Given the description of an element on the screen output the (x, y) to click on. 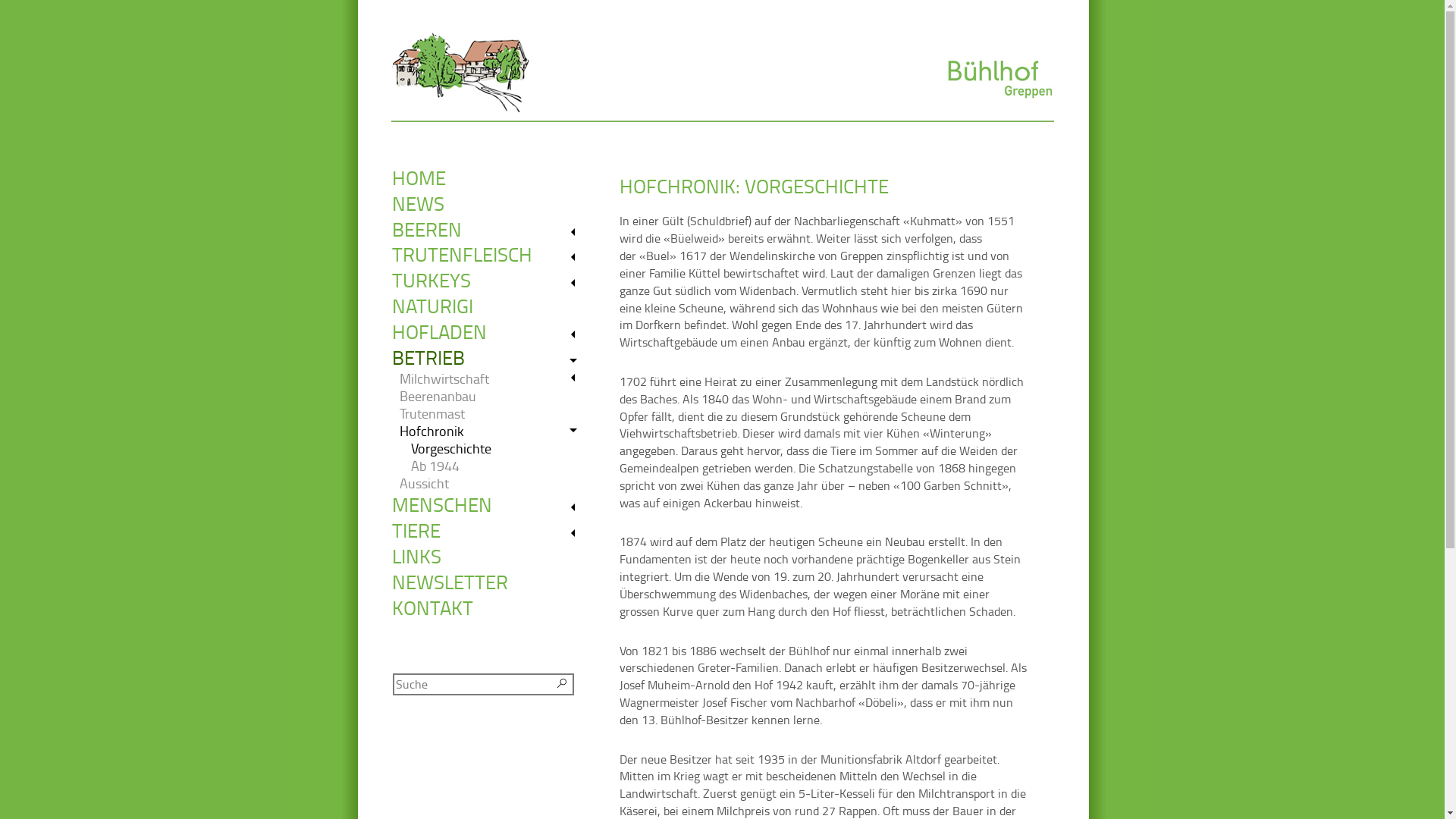
HOME Element type: text (489, 178)
Trutenmast Element type: text (492, 413)
NEWS Element type: text (489, 203)
TURKEYS Element type: text (489, 280)
Aussicht Element type: text (492, 483)
Vorgeschichte Element type: text (499, 448)
TIERE Element type: text (489, 530)
Ab 1944 Element type: text (499, 465)
LINKS Element type: text (489, 556)
TRUTENFLEISCH Element type: text (489, 254)
Beerenanbau Element type: text (492, 395)
BETRIEB Element type: text (489, 357)
HOFLADEN Element type: text (489, 332)
KONTAKT Element type: text (489, 608)
NEWSLETTER Element type: text (489, 582)
MENSCHEN Element type: text (489, 504)
Hofchronik Element type: text (492, 430)
NATURIGI Element type: text (489, 306)
BEEREN Element type: text (489, 229)
Milchwirtschaft Element type: text (492, 378)
